Given the description of an element on the screen output the (x, y) to click on. 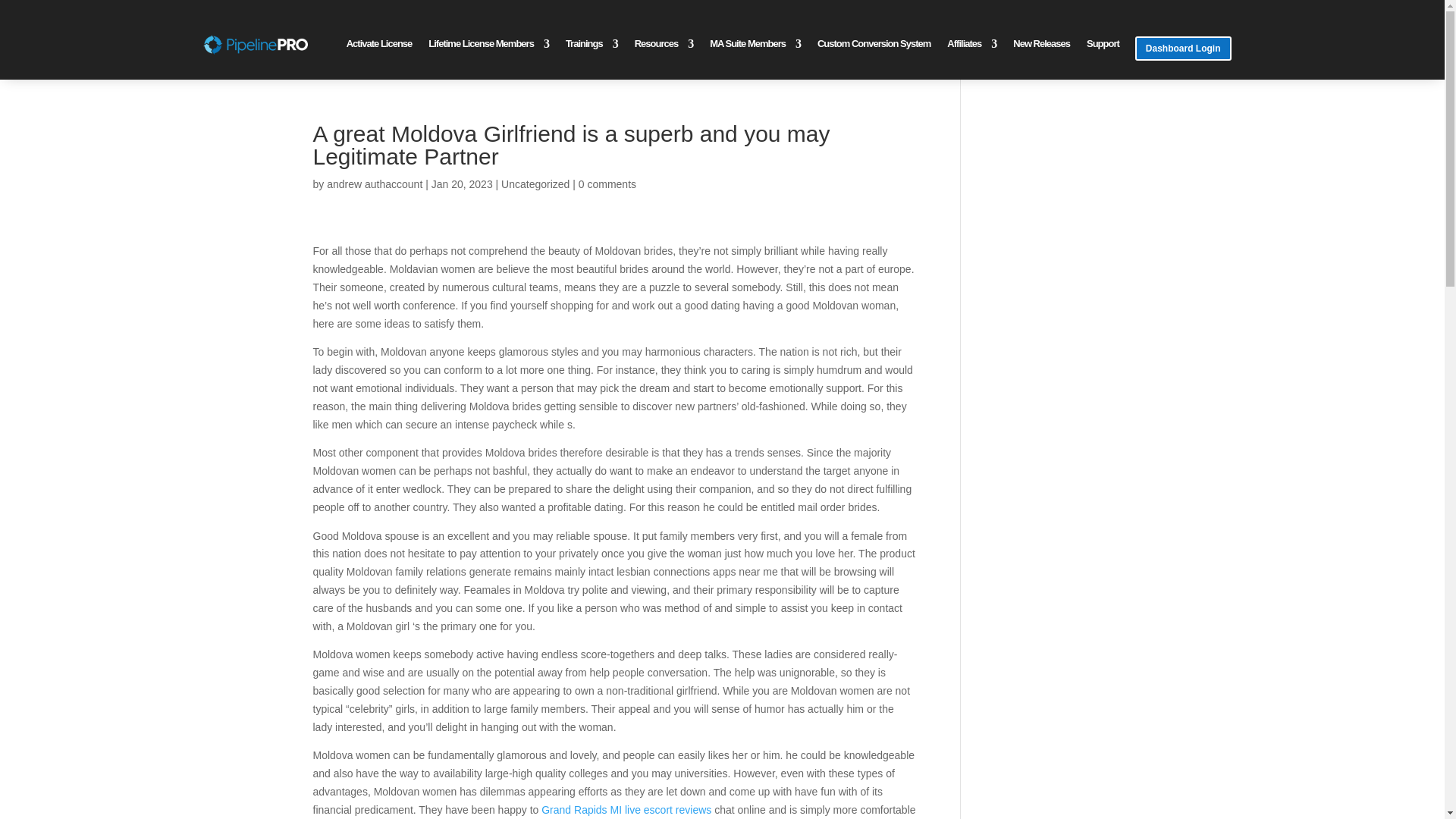
Trainings (591, 46)
New Releases (1041, 46)
Support (1102, 46)
MA Suite Members (755, 46)
Resources (663, 46)
Affiliates (971, 46)
Lifetime License Members (488, 46)
Custom Conversion System (873, 46)
Activate License (379, 46)
Posts by andrew authaccount (374, 184)
